Given the description of an element on the screen output the (x, y) to click on. 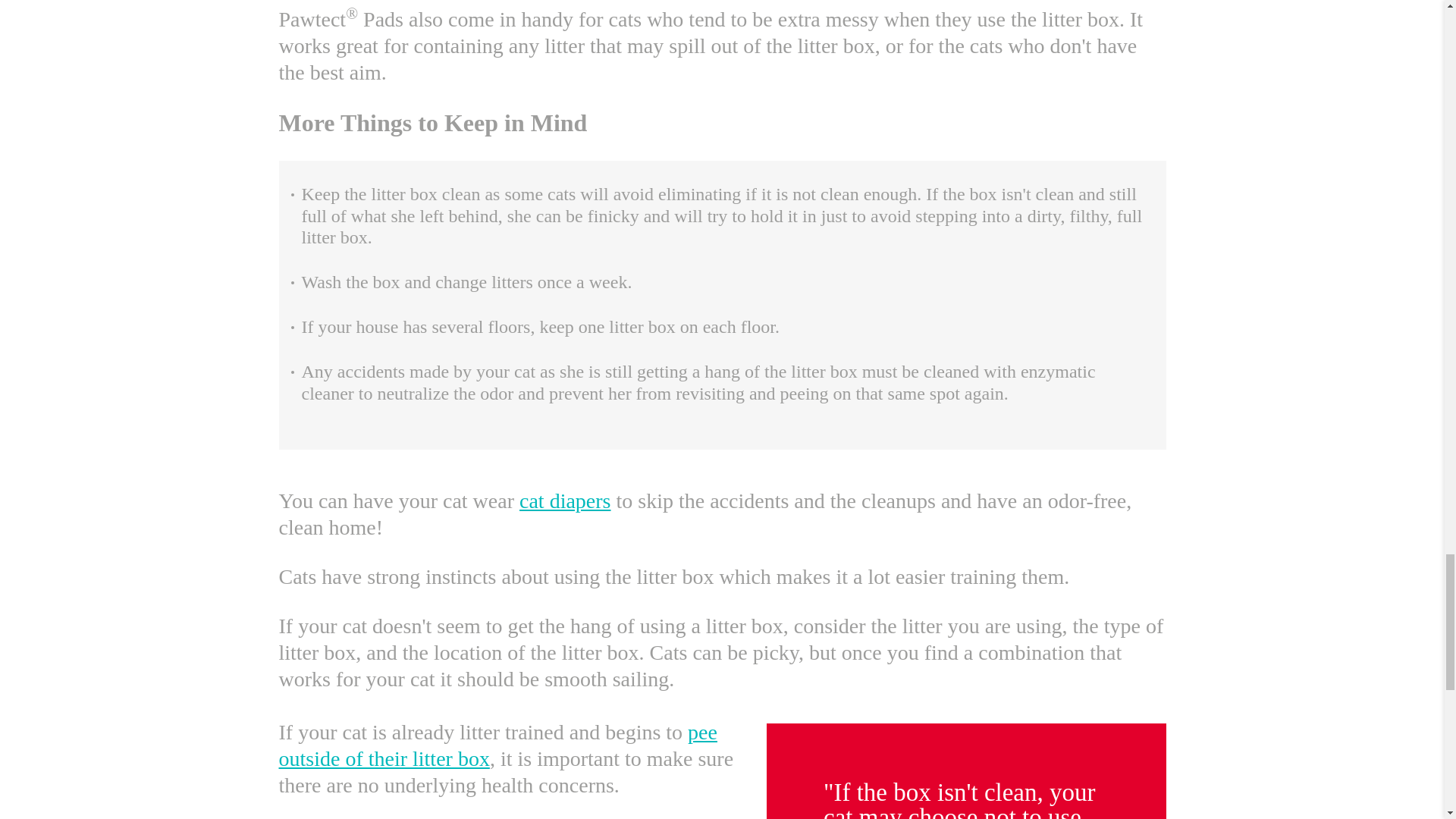
Why Cats Pee Outside of Their Litter Box (498, 745)
